Given the description of an element on the screen output the (x, y) to click on. 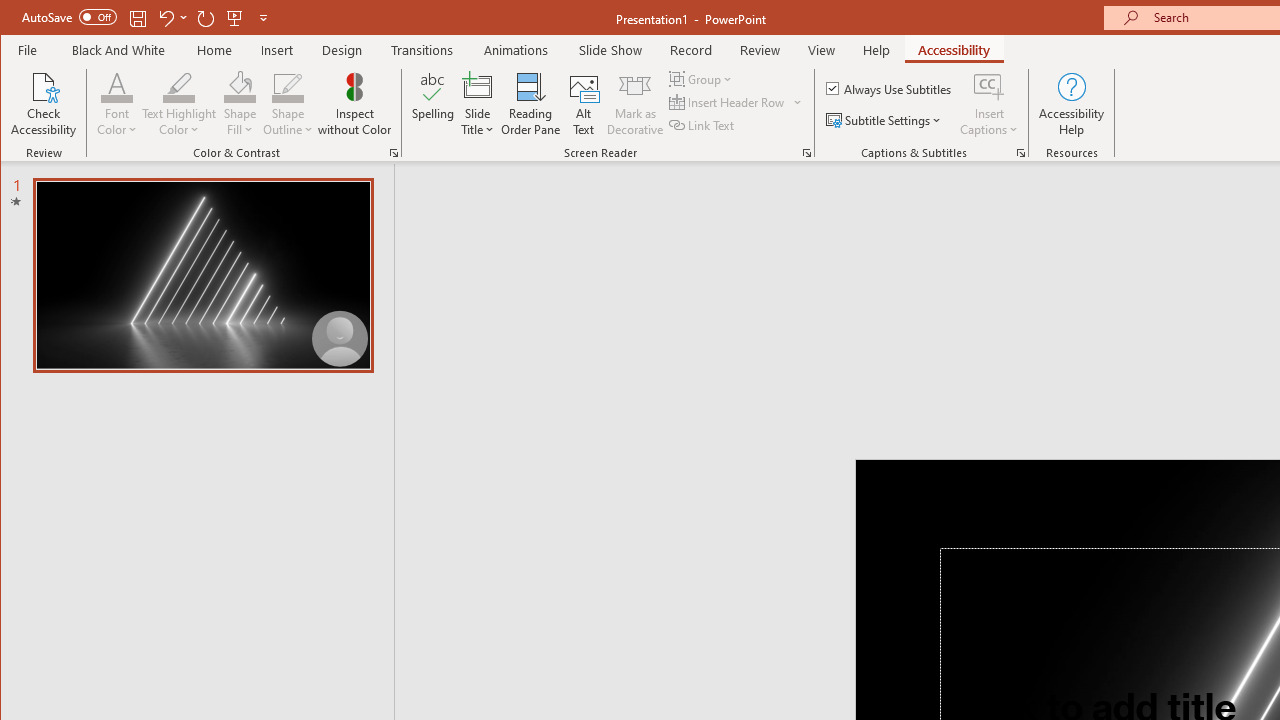
Reading Order Pane (531, 104)
Subtitle Settings (885, 119)
